Given the description of an element on the screen output the (x, y) to click on. 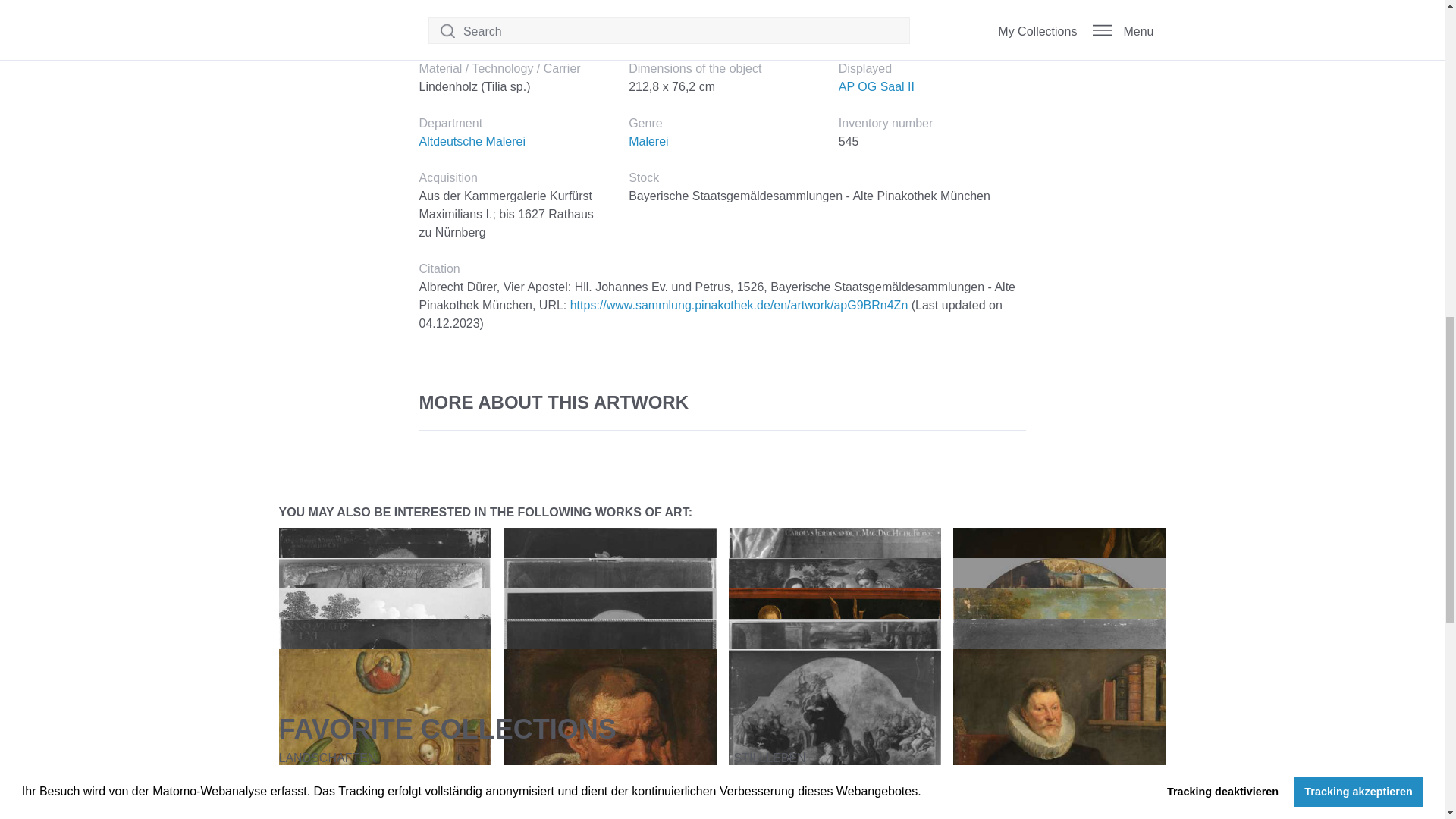
Malerei (648, 141)
AP OG Saal II (876, 86)
Altdeutsche Malerei (472, 141)
MORE ABOUT THIS ARTWORK (722, 402)
